Given the description of an element on the screen output the (x, y) to click on. 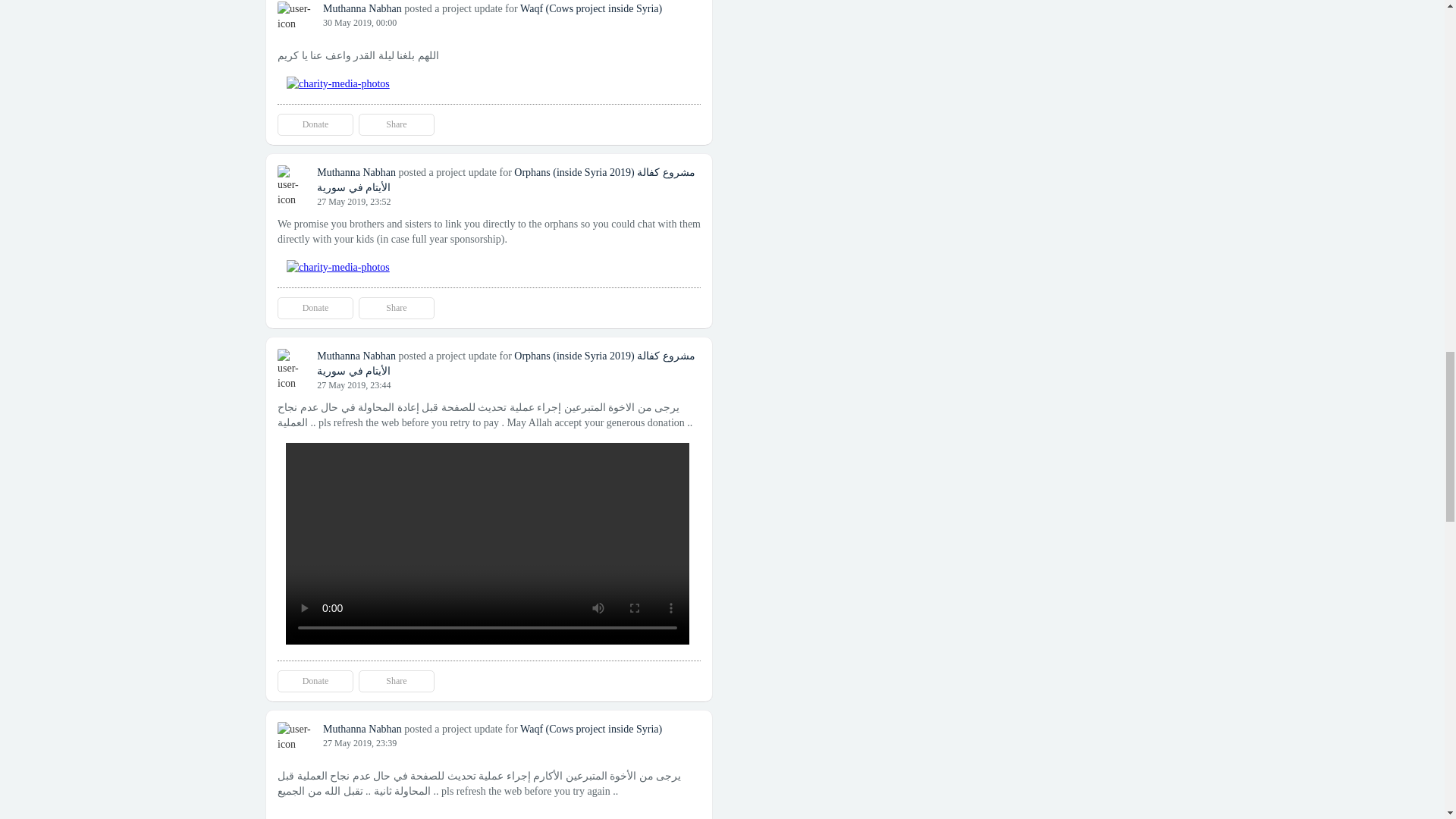
Share (395, 681)
Share (395, 308)
Donate (315, 124)
Donate (315, 681)
Donate (315, 308)
Share (395, 124)
